Given the description of an element on the screen output the (x, y) to click on. 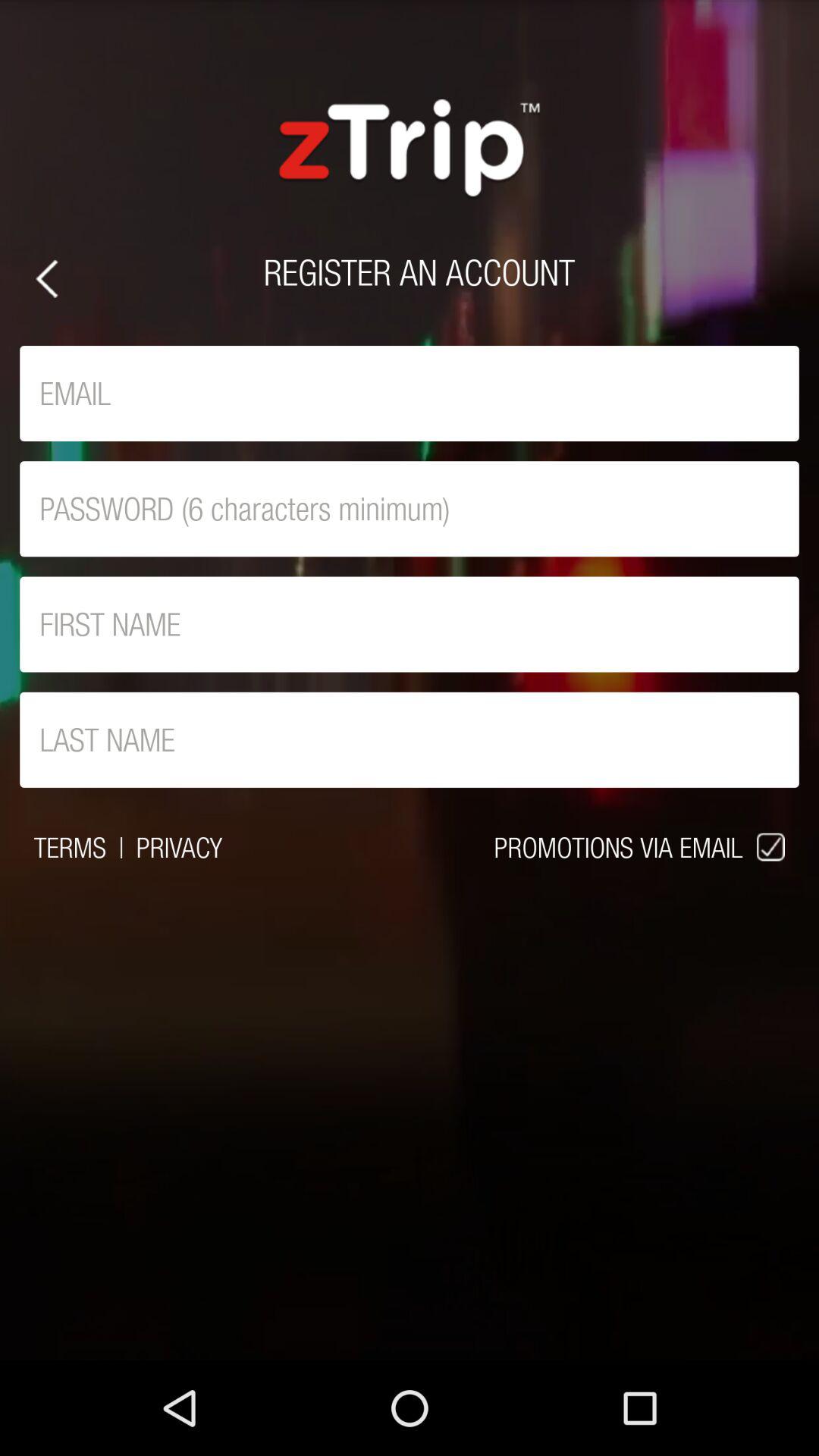
click on the back button which is beside register an account (46, 278)
